Given the description of an element on the screen output the (x, y) to click on. 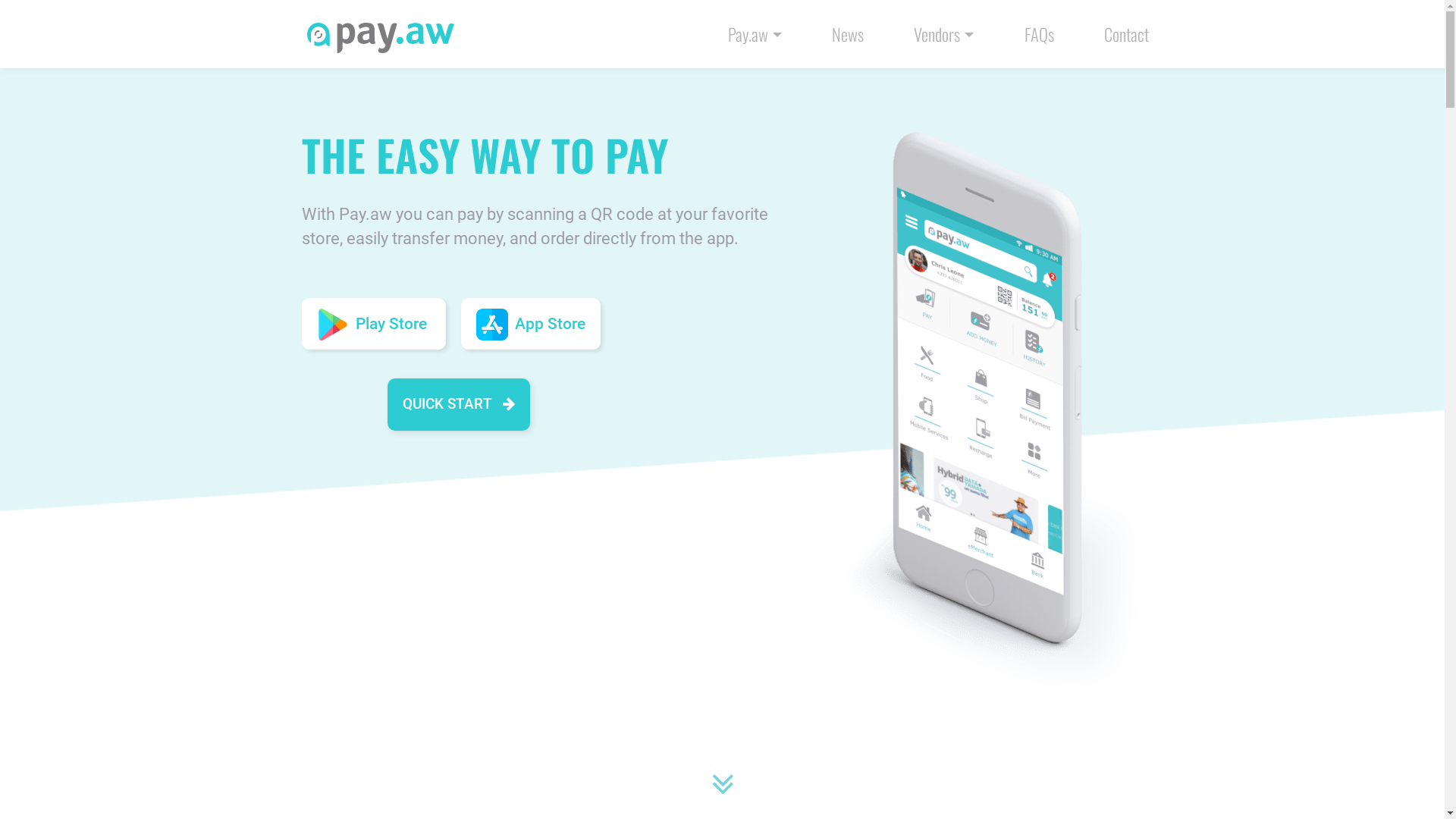
FAQs Element type: text (1039, 33)
App Store Element type: text (530, 323)
Vendors Element type: text (943, 33)
Pay.aw Element type: text (754, 33)
Contact Element type: text (1126, 33)
News Element type: text (847, 33)
QUICK START Element type: text (457, 404)
Play Store Element type: text (373, 323)
